Given the description of an element on the screen output the (x, y) to click on. 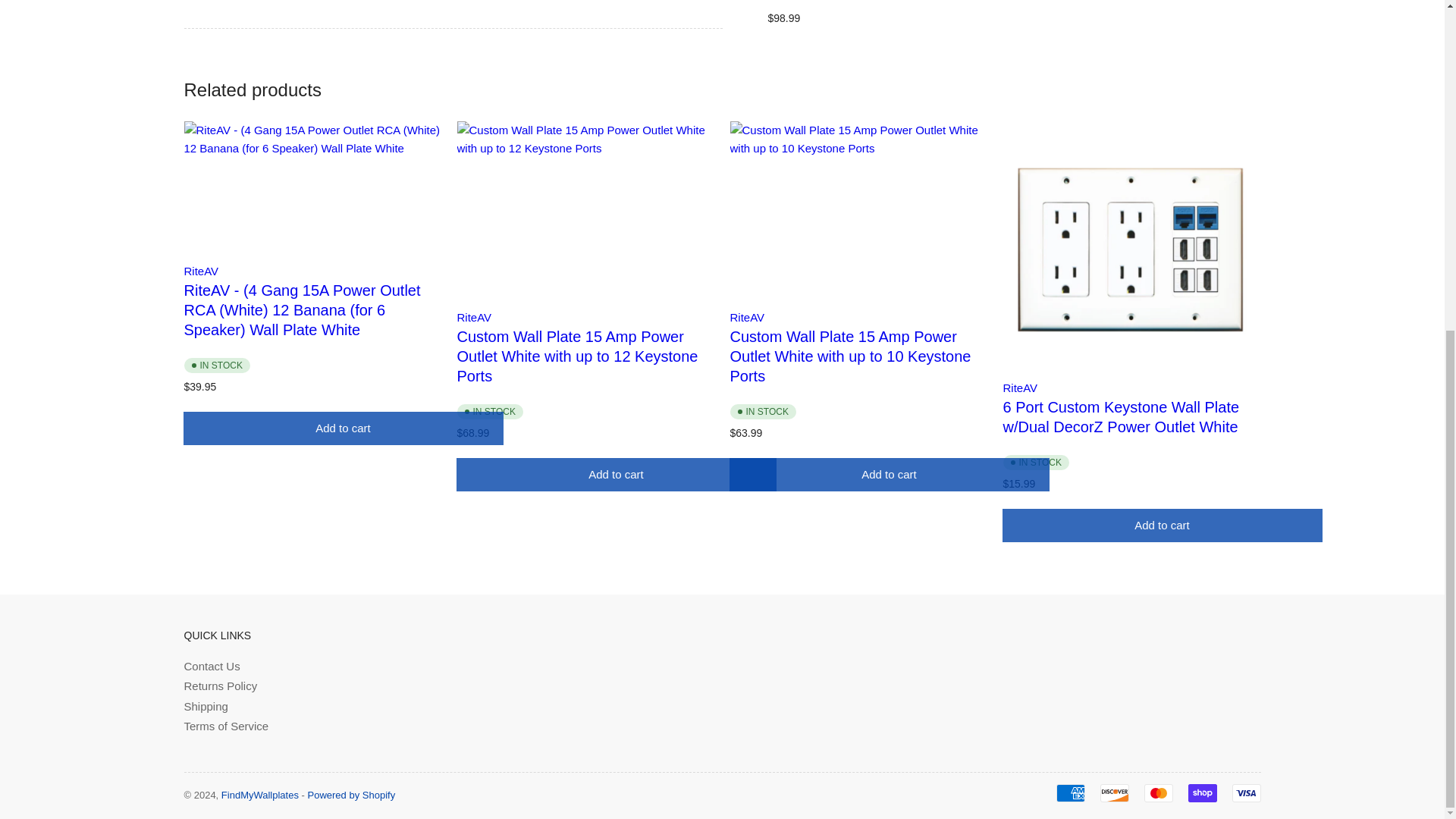
Discover (1113, 792)
Mastercard (1157, 792)
Shop Pay (1201, 792)
RiteAV (1019, 387)
RiteAV (746, 317)
RiteAV (200, 270)
RiteAV (474, 317)
Visa (1245, 792)
American Express (1069, 792)
